Given the description of an element on the screen output the (x, y) to click on. 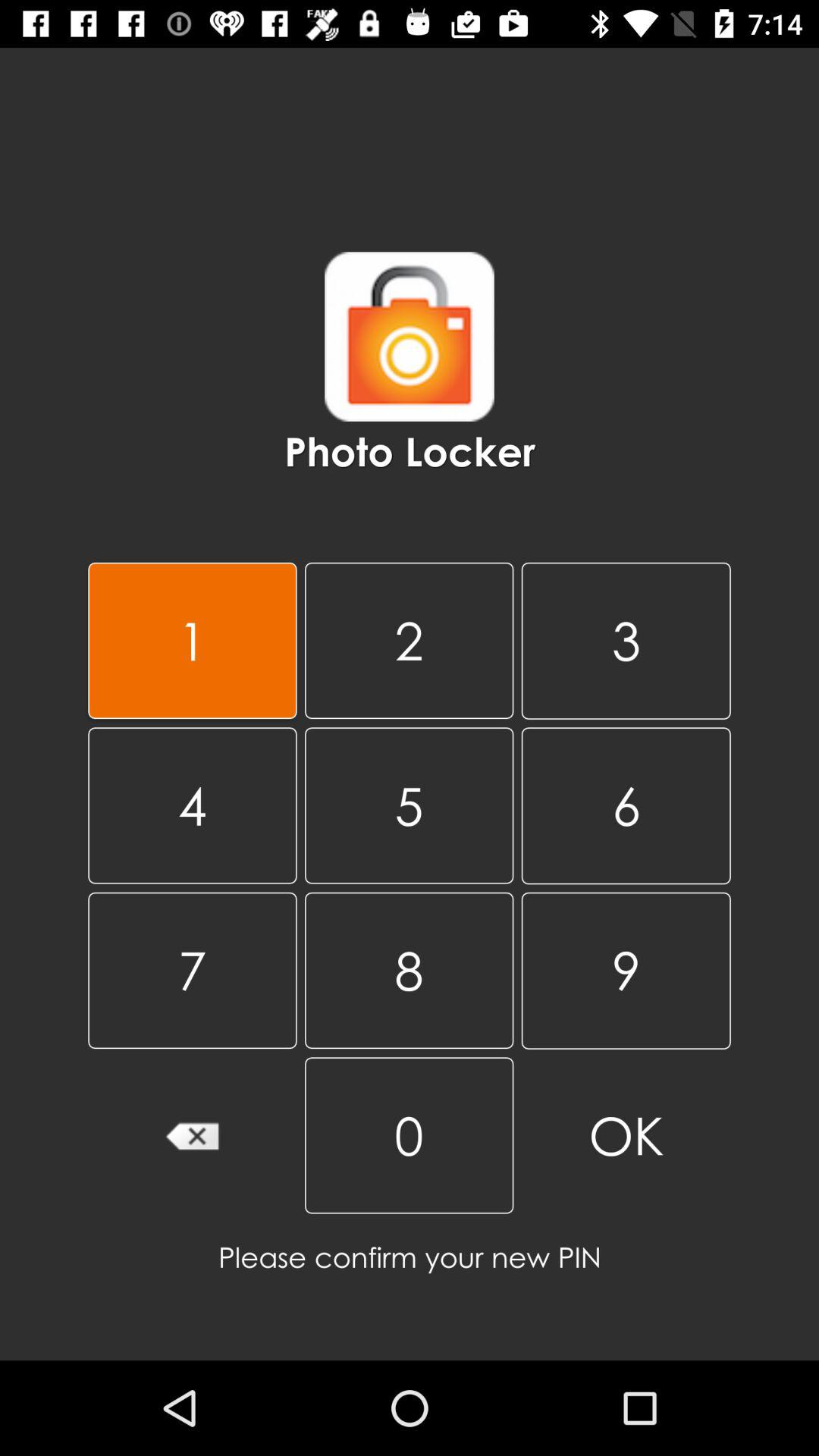
press the item above 5 item (625, 640)
